Given the description of an element on the screen output the (x, y) to click on. 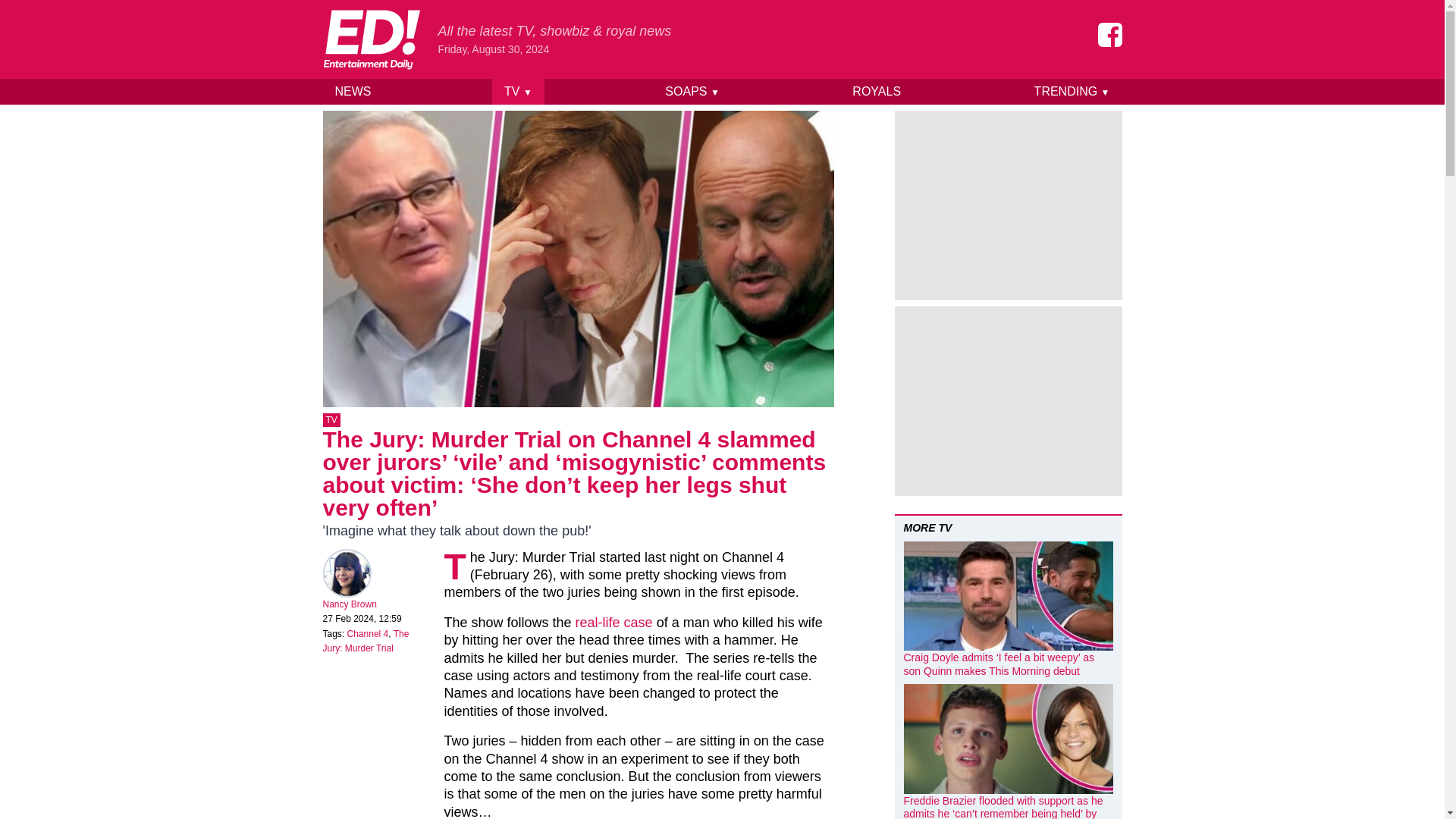
The Jury: Murder Trial (366, 641)
TV (331, 419)
Nancy Brown (350, 603)
ROYALS (876, 91)
Channel 4 (367, 633)
NEWS (353, 91)
real-life case (613, 622)
